Given the description of an element on the screen output the (x, y) to click on. 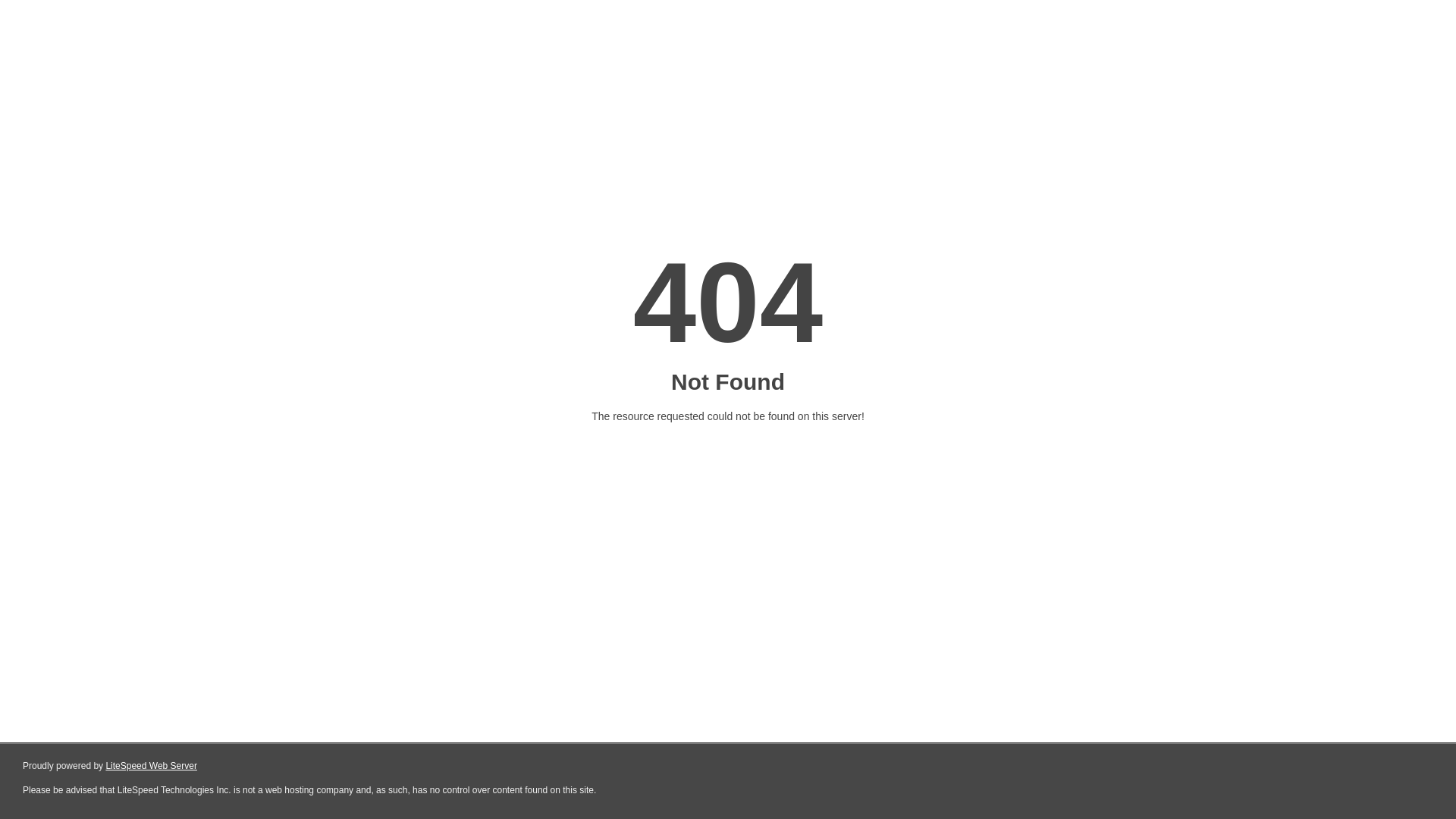
LiteSpeed Web Server Element type: text (151, 765)
